Given the description of an element on the screen output the (x, y) to click on. 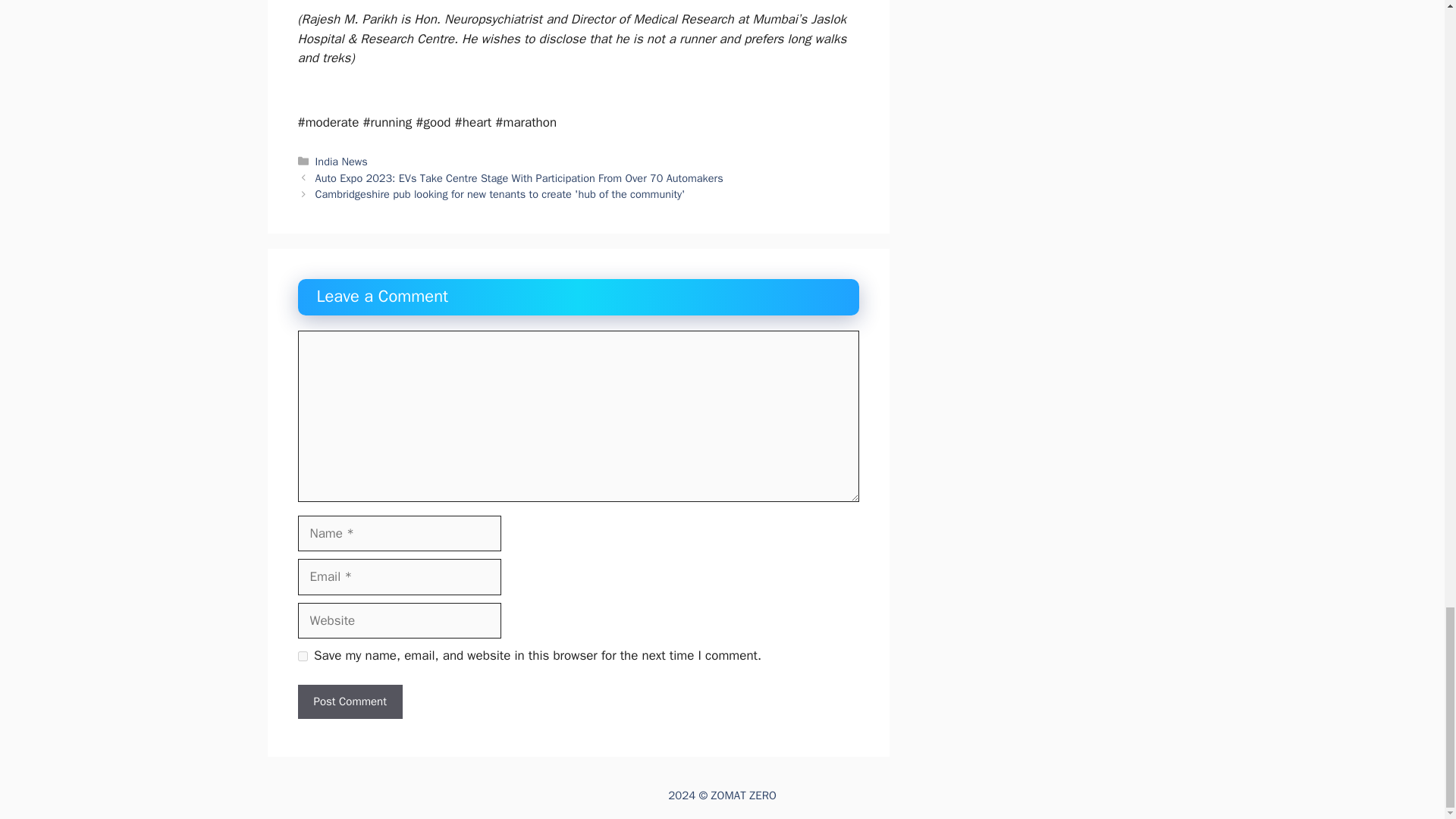
Post Comment (349, 701)
yes (302, 655)
Post Comment (349, 701)
India News (341, 161)
